Given the description of an element on the screen output the (x, y) to click on. 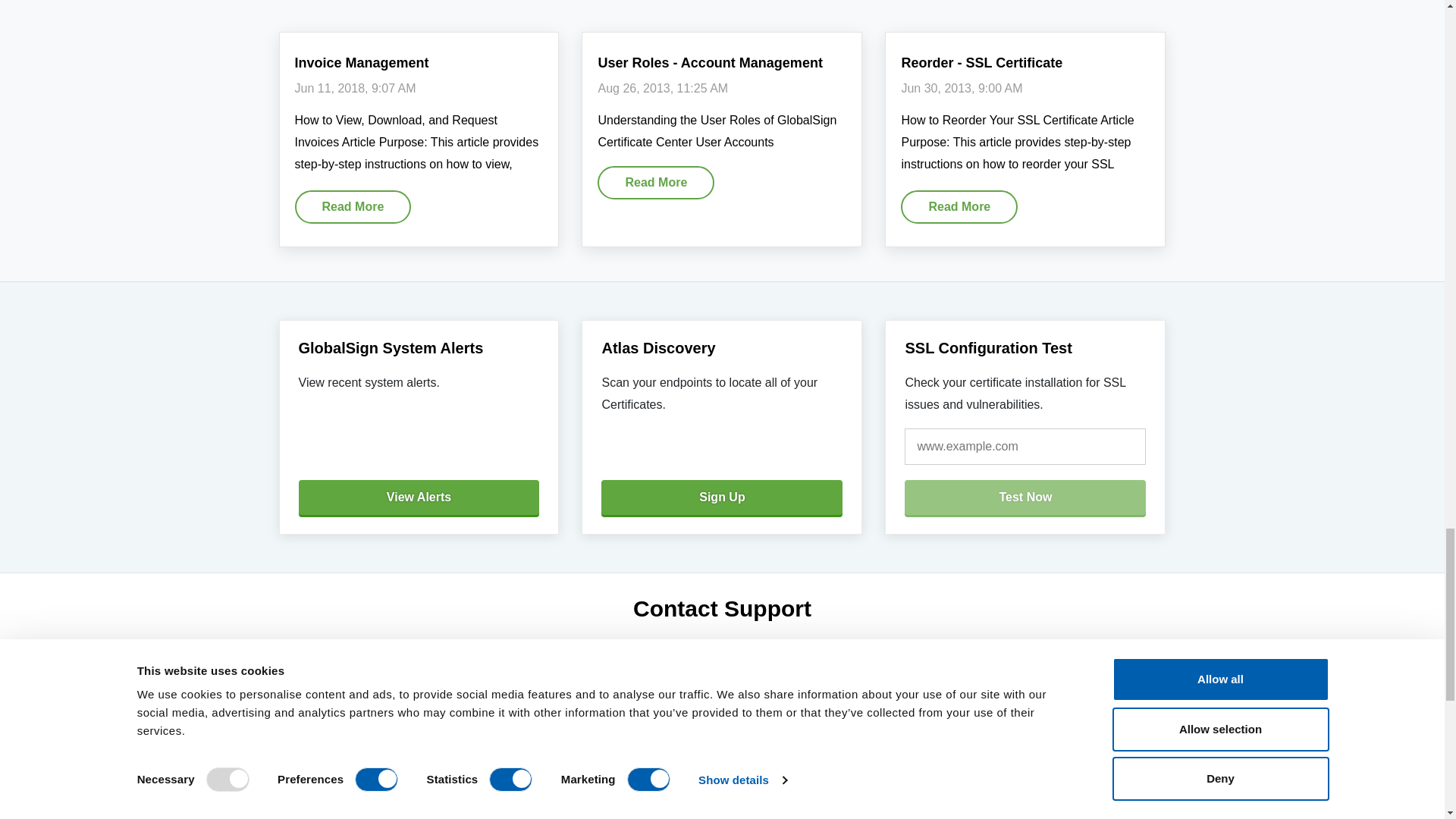
Test Now (1024, 497)
